Given the description of an element on the screen output the (x, y) to click on. 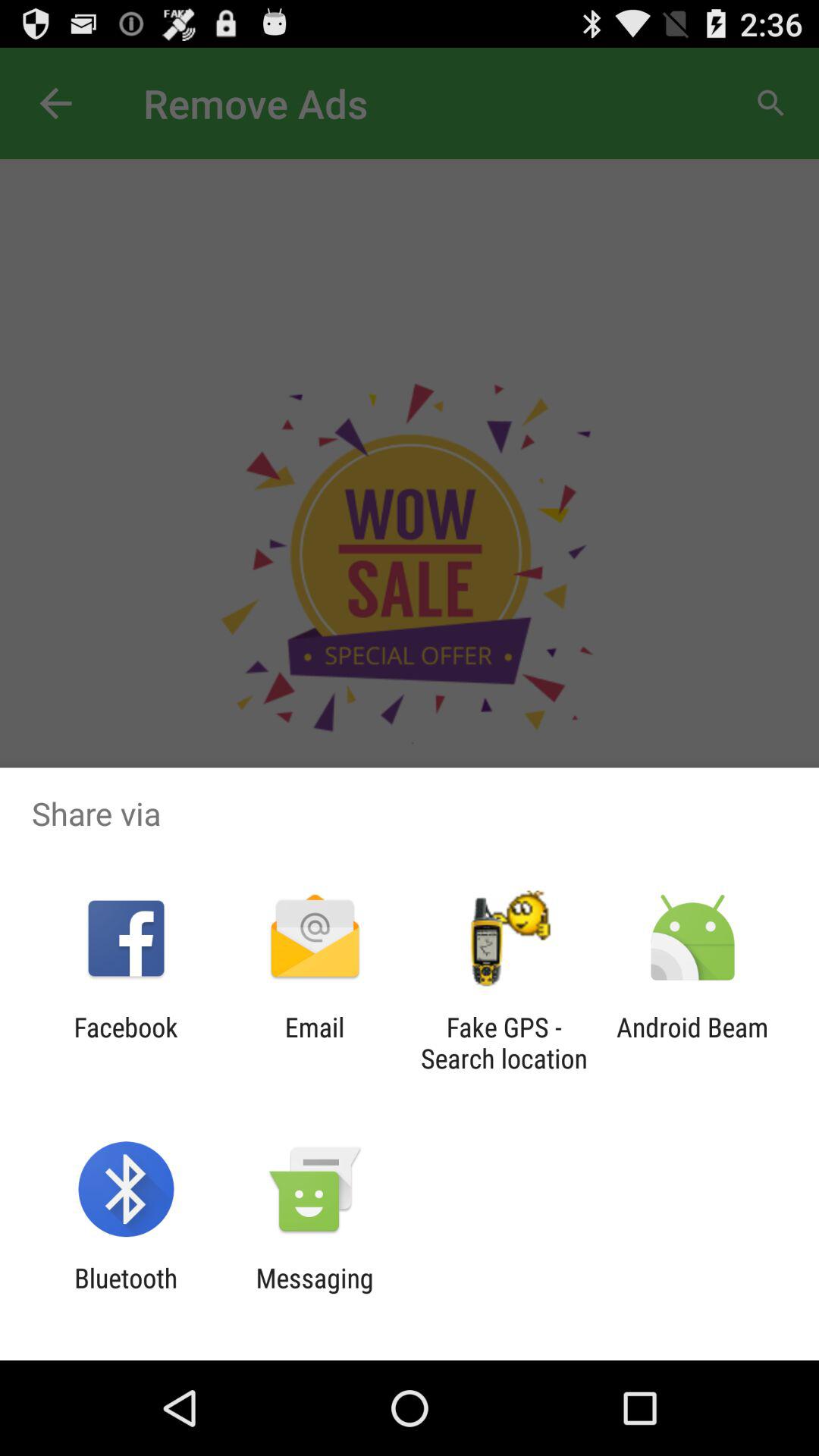
select the item next to the fake gps search icon (692, 1042)
